Given the description of an element on the screen output the (x, y) to click on. 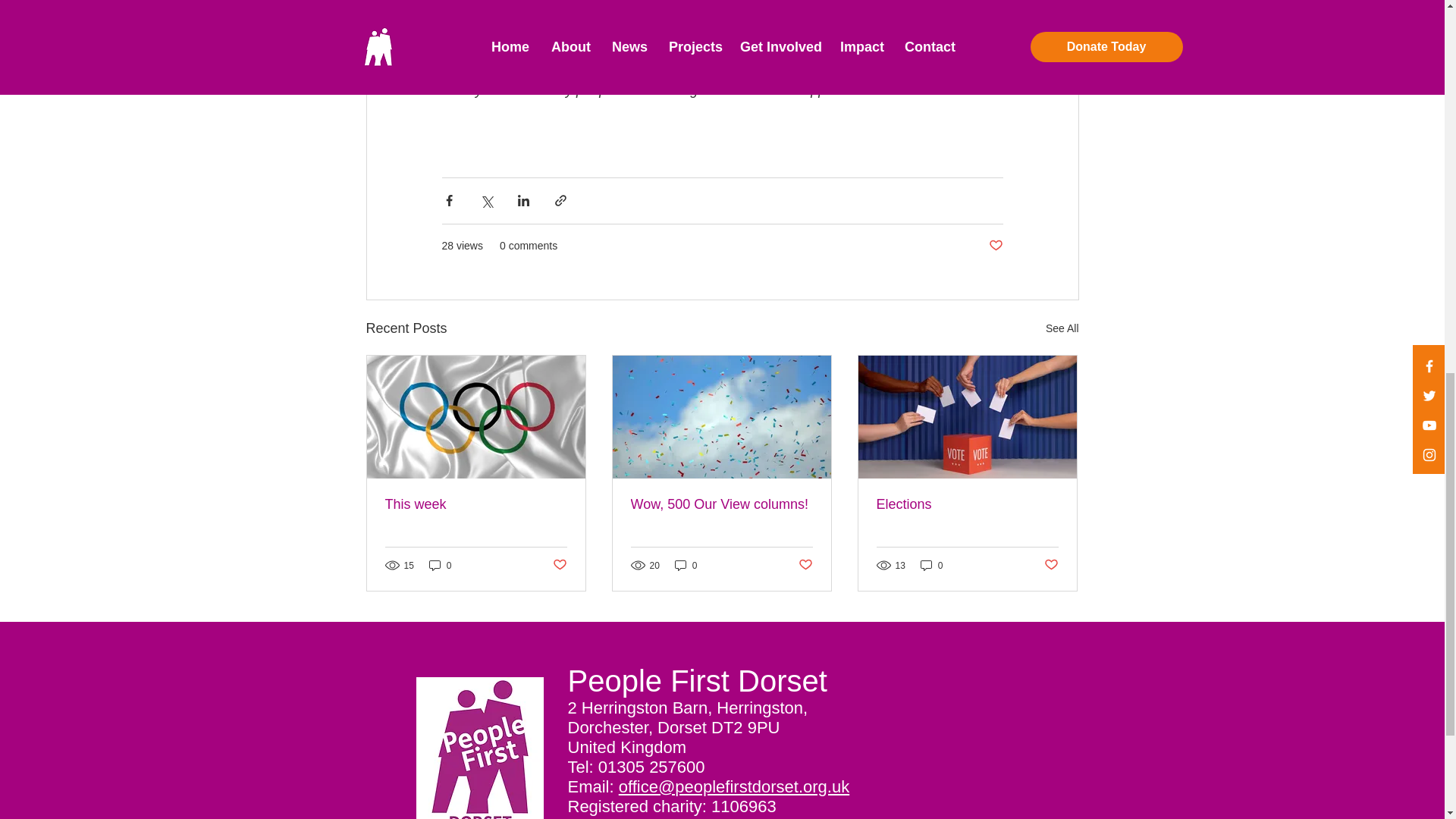
Post not marked as liked (995, 245)
